Given the description of an element on the screen output the (x, y) to click on. 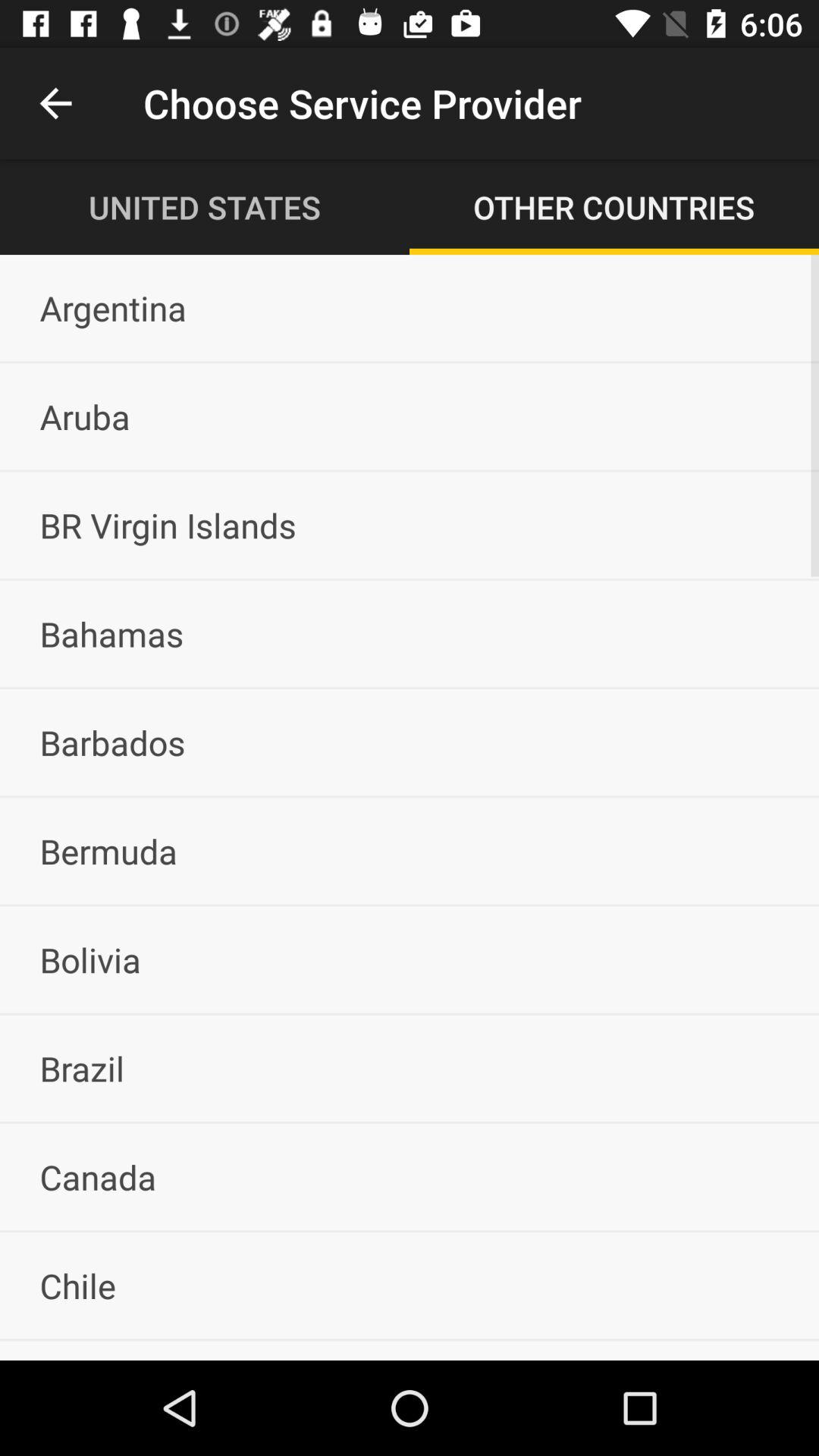
turn off item below the argentina (409, 416)
